Given the description of an element on the screen output the (x, y) to click on. 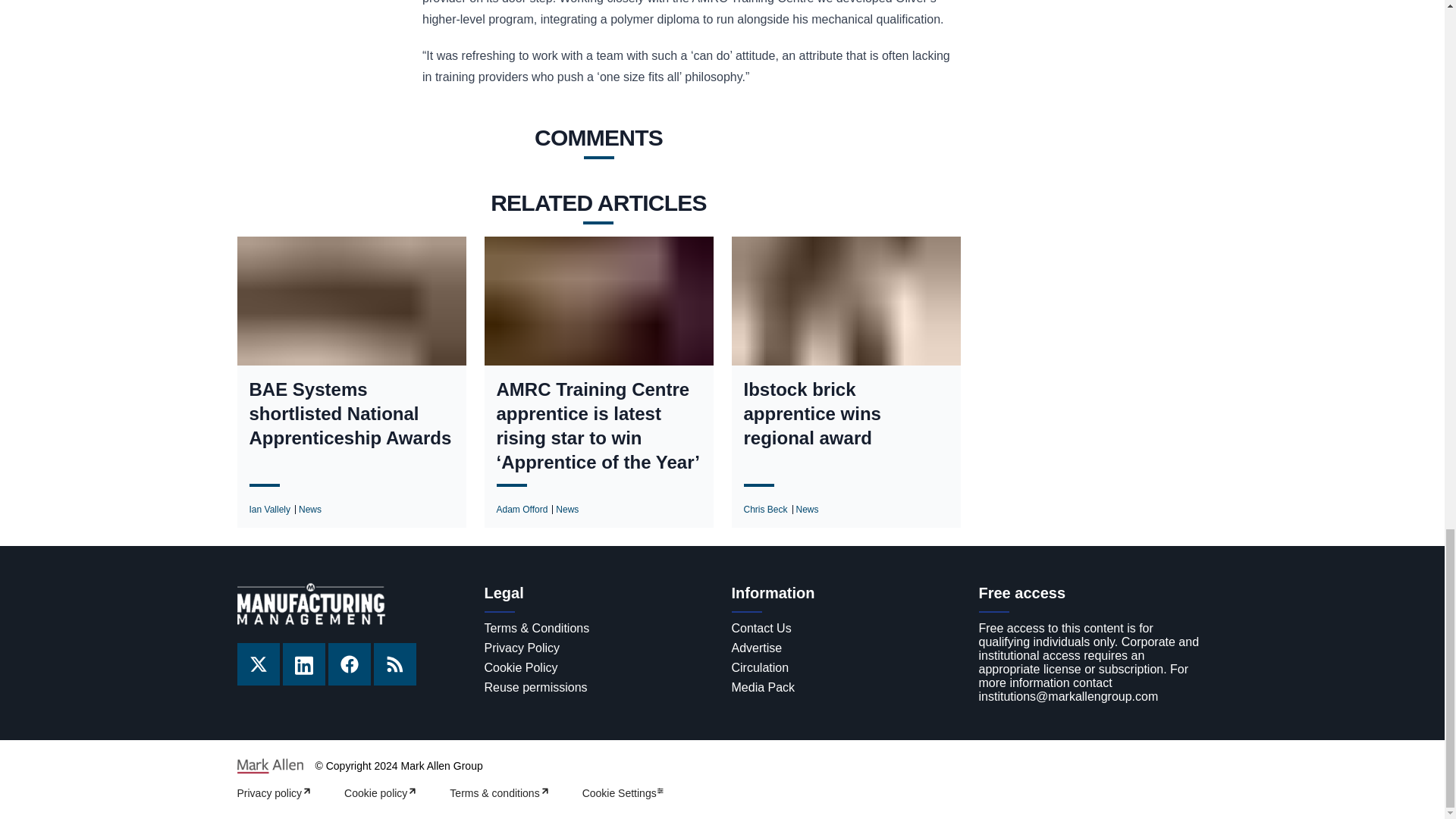
BAE Systems shortlisted National Apprenticeship Awards (350, 413)
Ibstock brick apprentice wins regional award (844, 413)
News (309, 509)
News (567, 509)
Adam Offord (521, 509)
Ian Vallely (268, 509)
Chris Beck (764, 509)
News (807, 509)
